Given the description of an element on the screen output the (x, y) to click on. 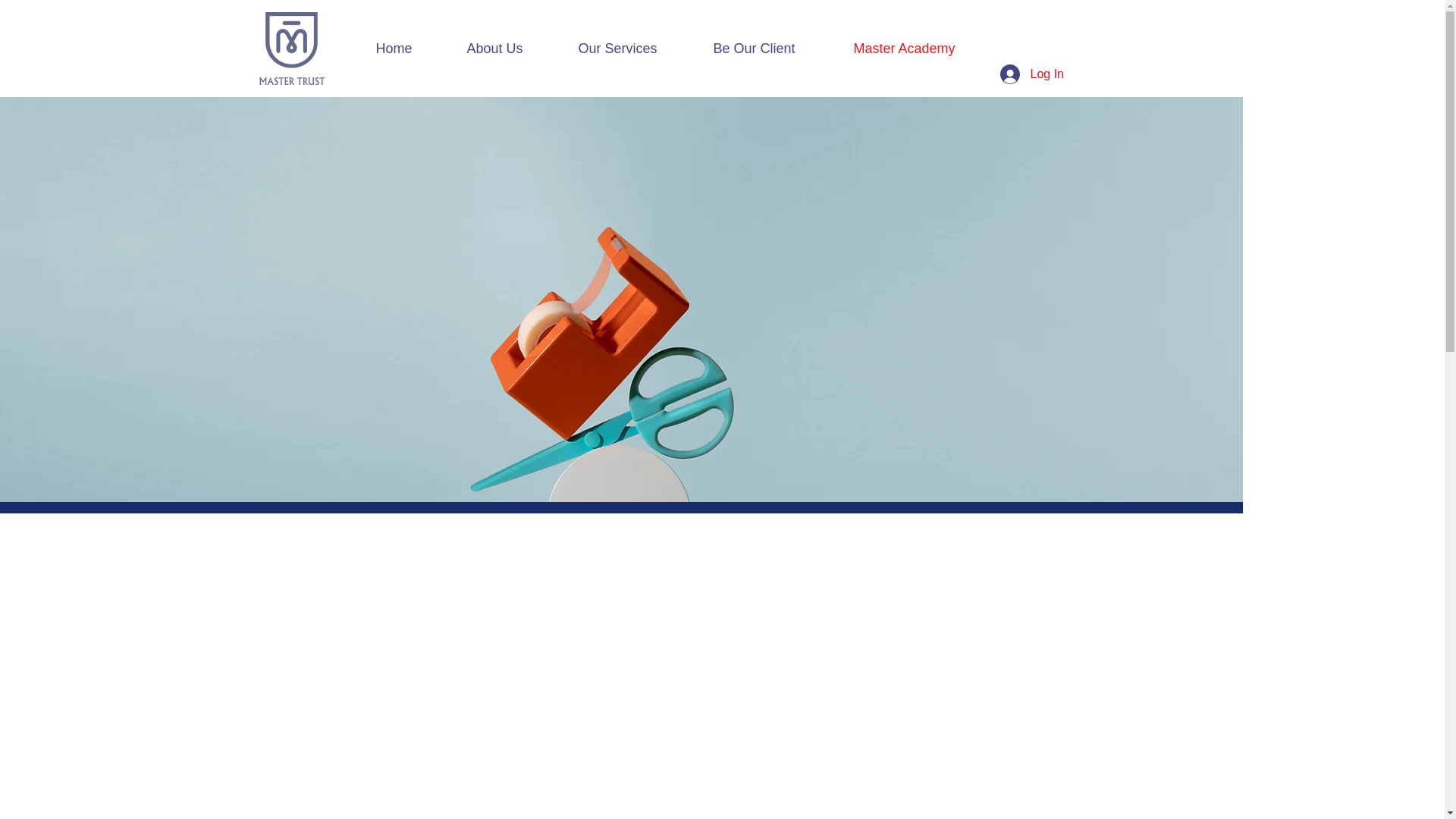
About Us (510, 48)
Our Services (634, 48)
Master Academy (922, 48)
Be Our Client (772, 48)
Log In (1025, 73)
Home (409, 48)
